Given the description of an element on the screen output the (x, y) to click on. 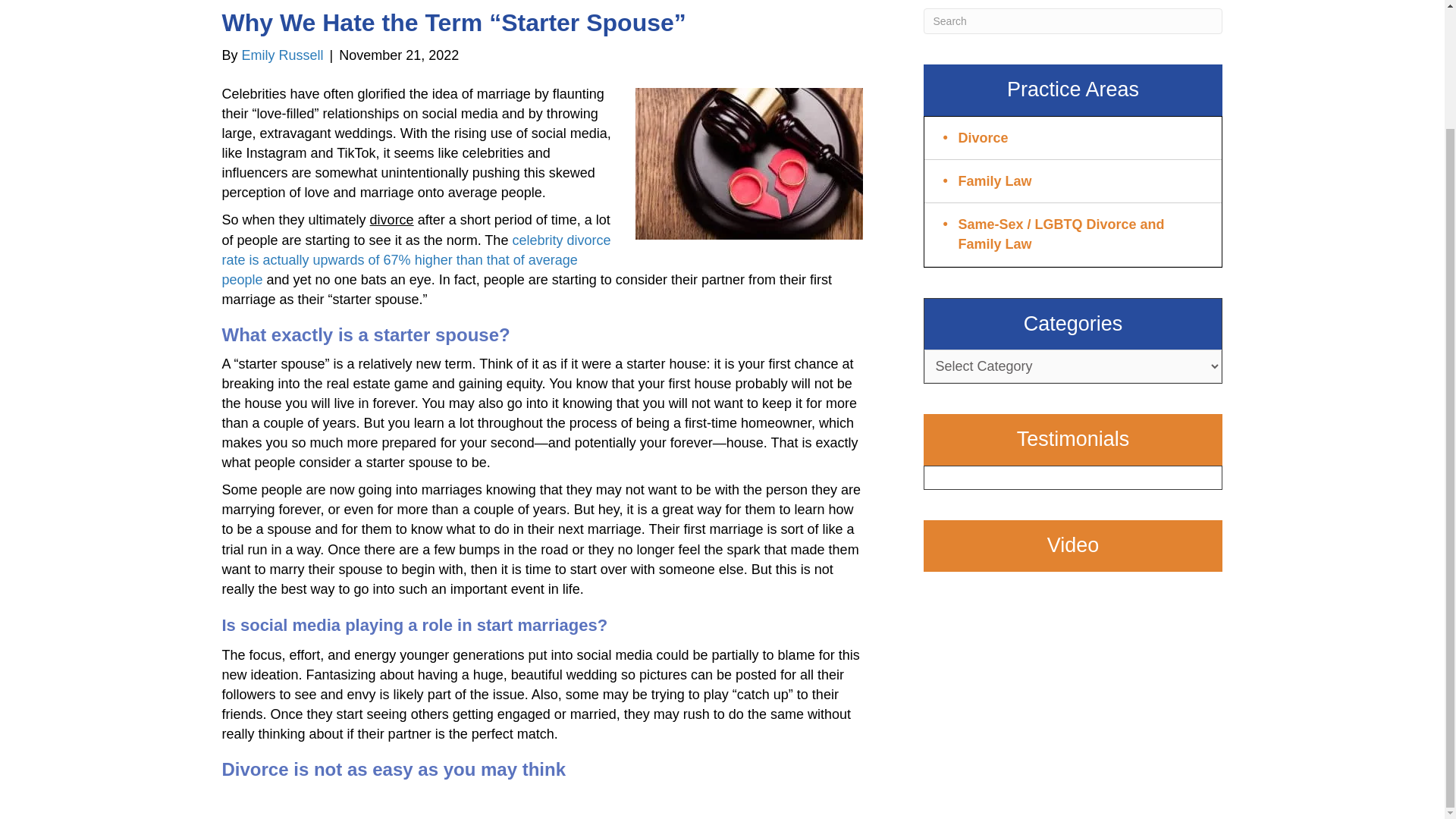
Type and press Enter to search. (1073, 21)
